Given the description of an element on the screen output the (x, y) to click on. 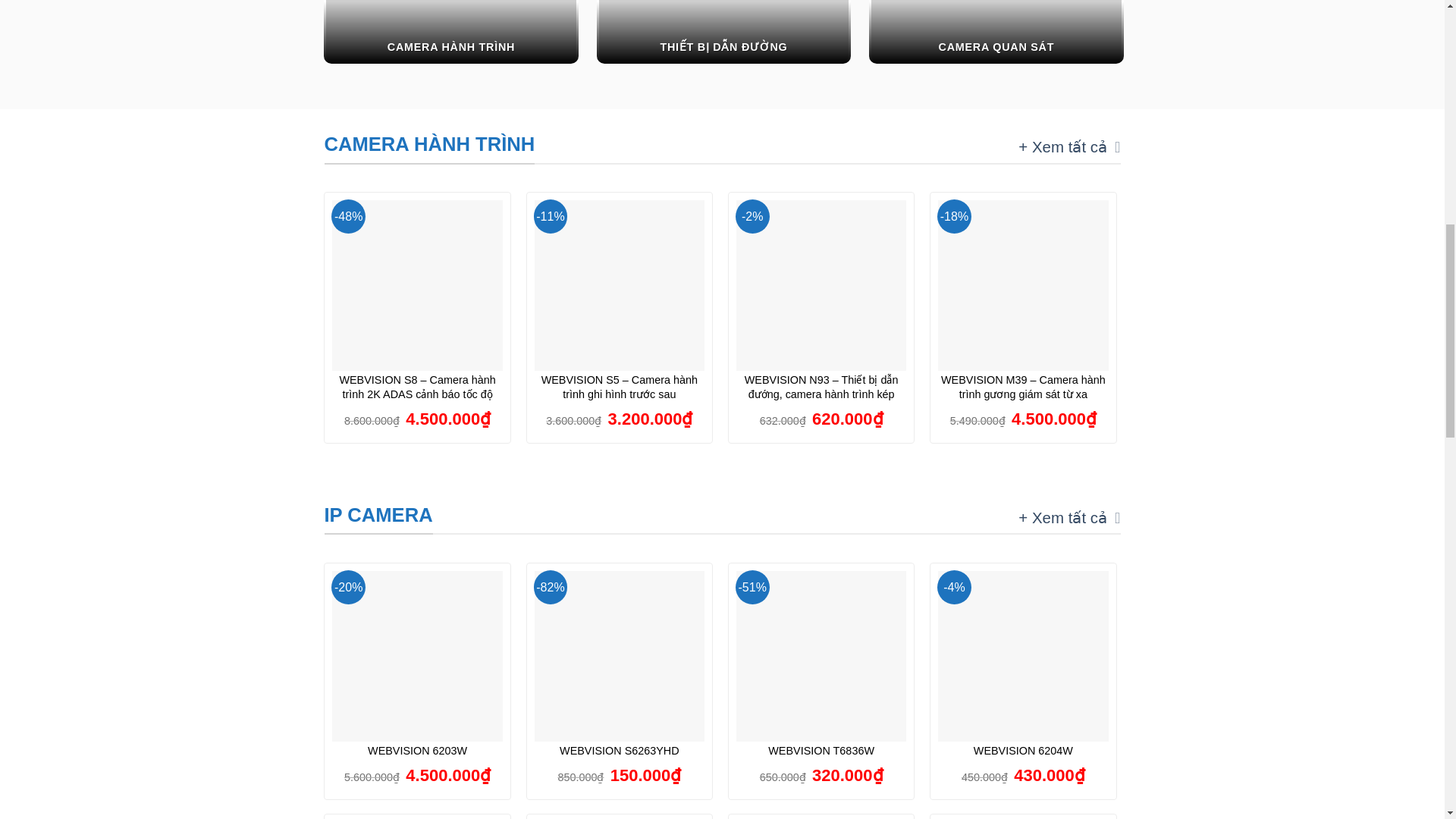
WEBVISION T6836W (821, 750)
WEBVISION S6263YHD (619, 750)
WEBVISION 6203W (417, 750)
